Given the description of an element on the screen output the (x, y) to click on. 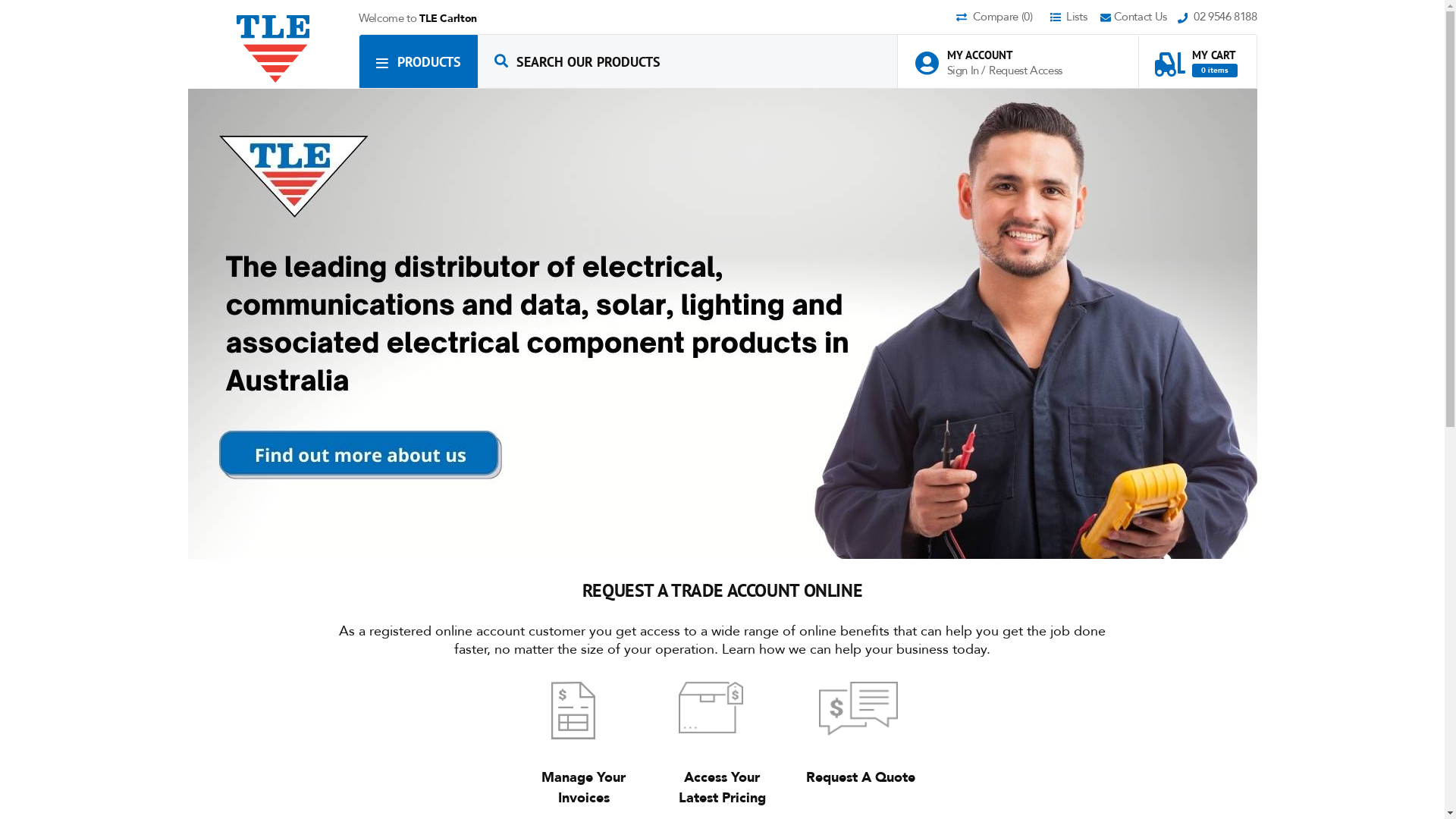
Contact Us Element type: text (1138, 17)
02 9546 8188 Element type: text (1217, 17)
Compare 0 Element type: text (1001, 17)
MY CART
0 items Element type: text (1195, 55)
TLE Electrical Element type: hover (273, 49)
Request Access Element type: text (1025, 70)
MY ACCOUNT Element type: text (995, 54)
Search Element type: text (501, 60)
TLE Electrical Element type: hover (272, 49)
Lists Element type: text (1073, 17)
Sign In Element type: text (963, 70)
